Given the description of an element on the screen output the (x, y) to click on. 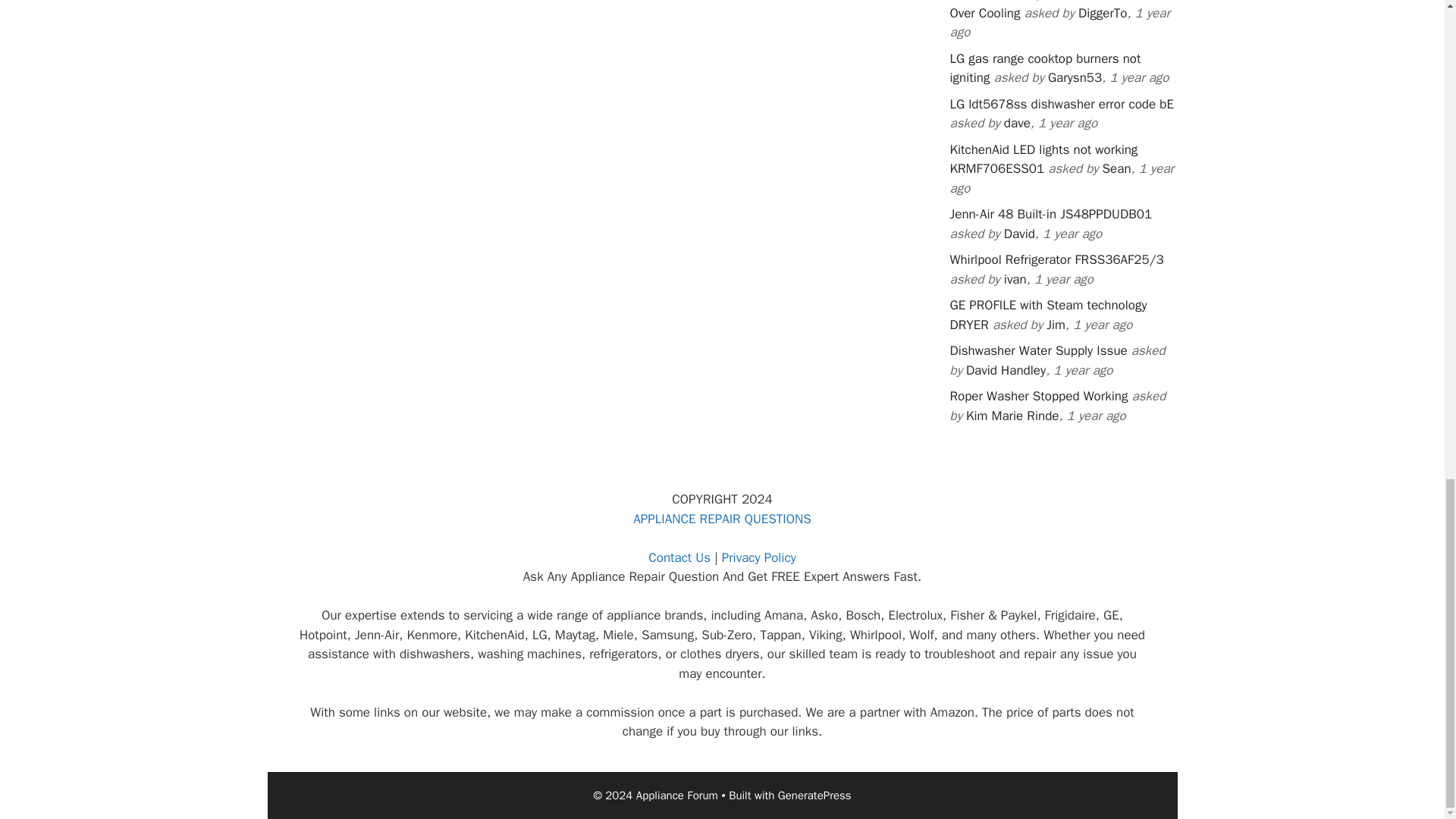
LG gas range cooktop burners not igniting (1044, 68)
Garysn53 (1075, 77)
Sean (1116, 168)
DiggerTo (1102, 12)
LG ldt5678ss dishwasher error code bE (1061, 104)
dave (1017, 123)
KitchenAid LED lights not working KRMF706ESS01 (1043, 159)
Whirlpool Refeigerator GT19DKXHW00 Over Cooling (1057, 10)
